Given the description of an element on the screen output the (x, y) to click on. 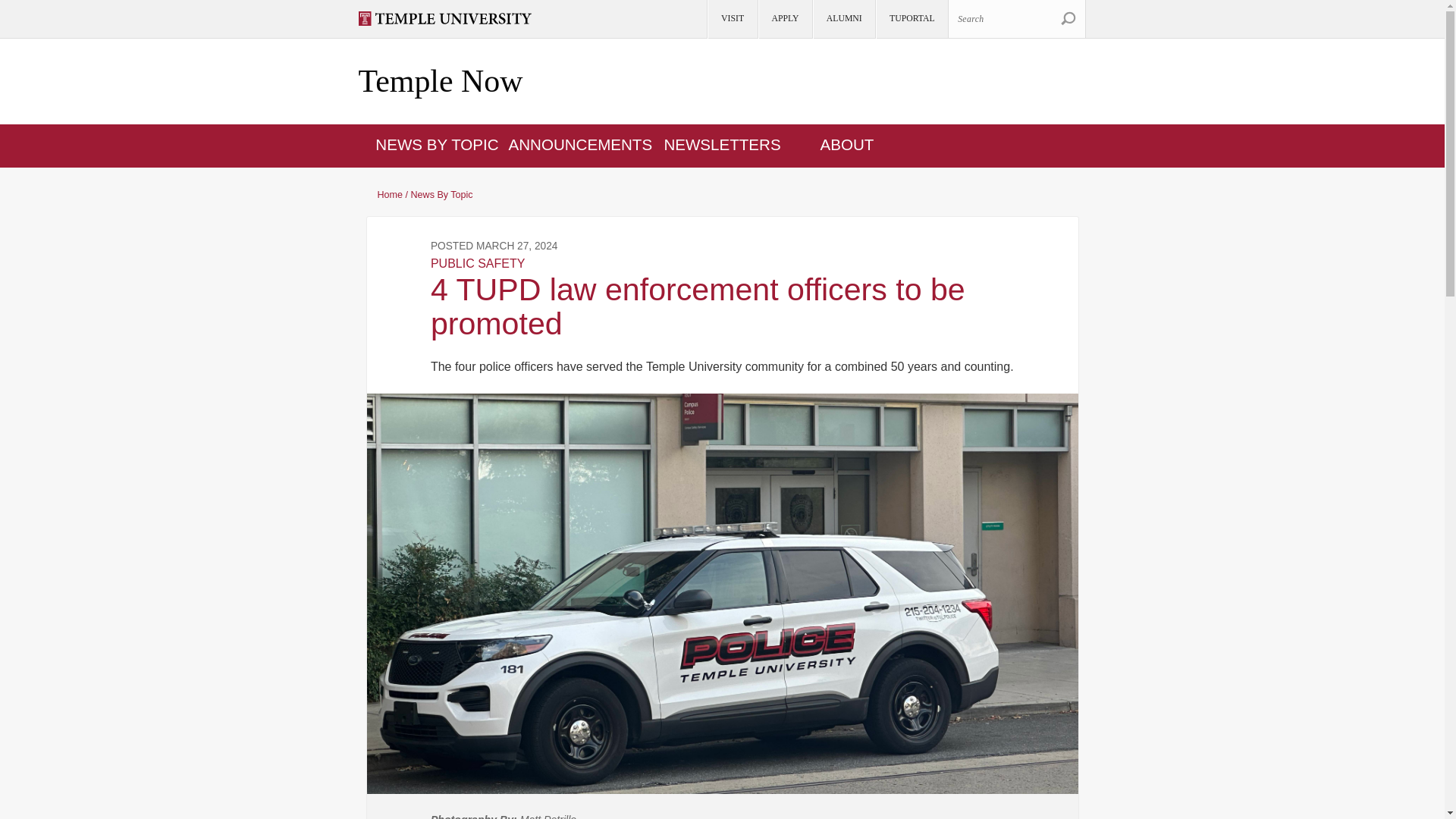
Temple Now (440, 81)
Home (440, 81)
APPLY (784, 19)
Search Site (1067, 18)
Search (1067, 18)
Search (1016, 18)
Visit Temple.edu (451, 18)
TUPORTAL (911, 19)
NEWSLETTERS (721, 144)
ANNOUNCEMENTS (580, 144)
Search (1067, 18)
NEWS BY TOPIC (436, 144)
VISIT (731, 19)
ABOUT (848, 144)
ALUMNI (843, 19)
